Given the description of an element on the screen output the (x, y) to click on. 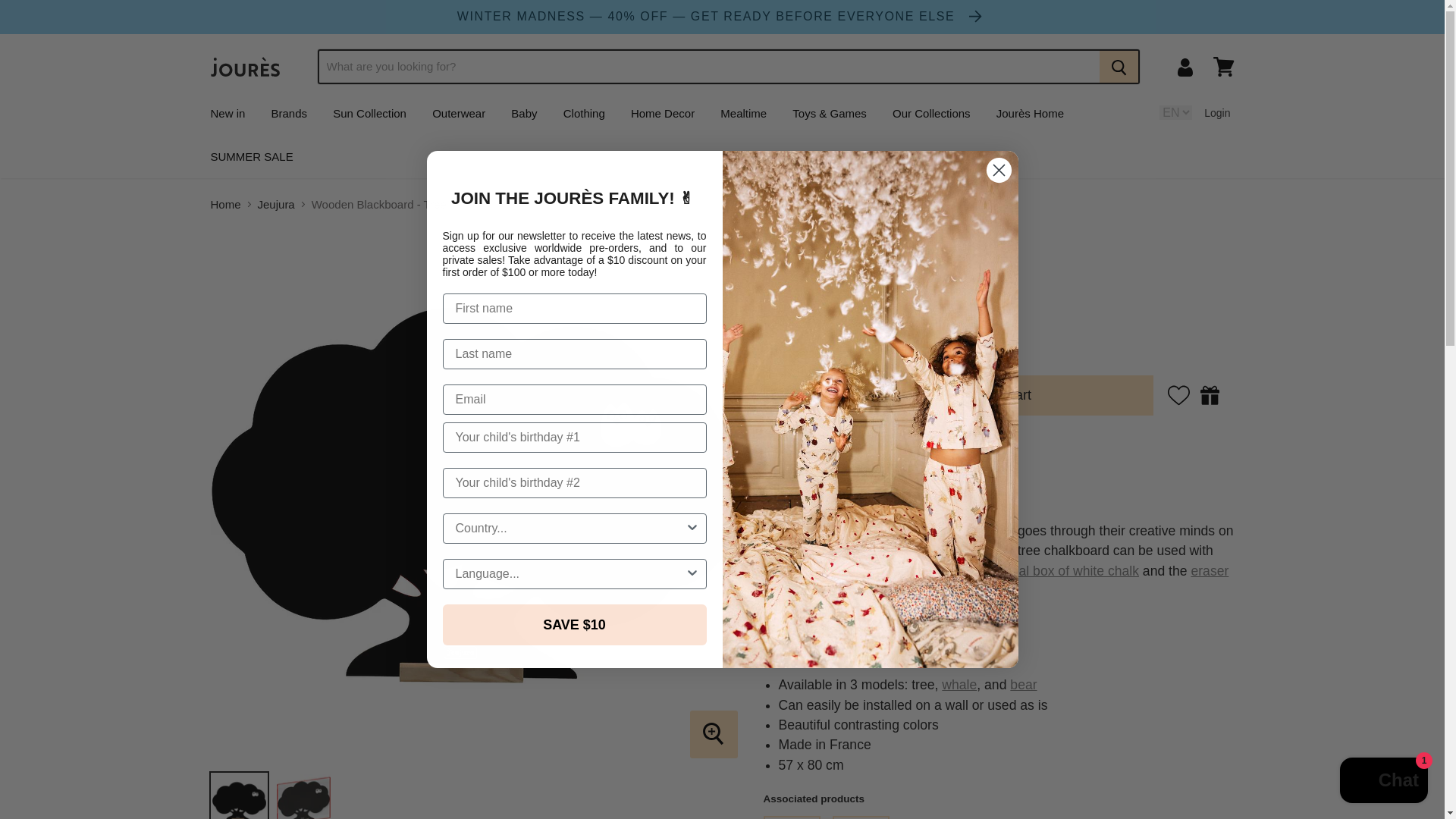
New in (227, 112)
View cart (1223, 66)
Brands (289, 112)
Jeujura (796, 267)
My account (1185, 67)
Shopify online store chat (1383, 781)
